Given the description of an element on the screen output the (x, y) to click on. 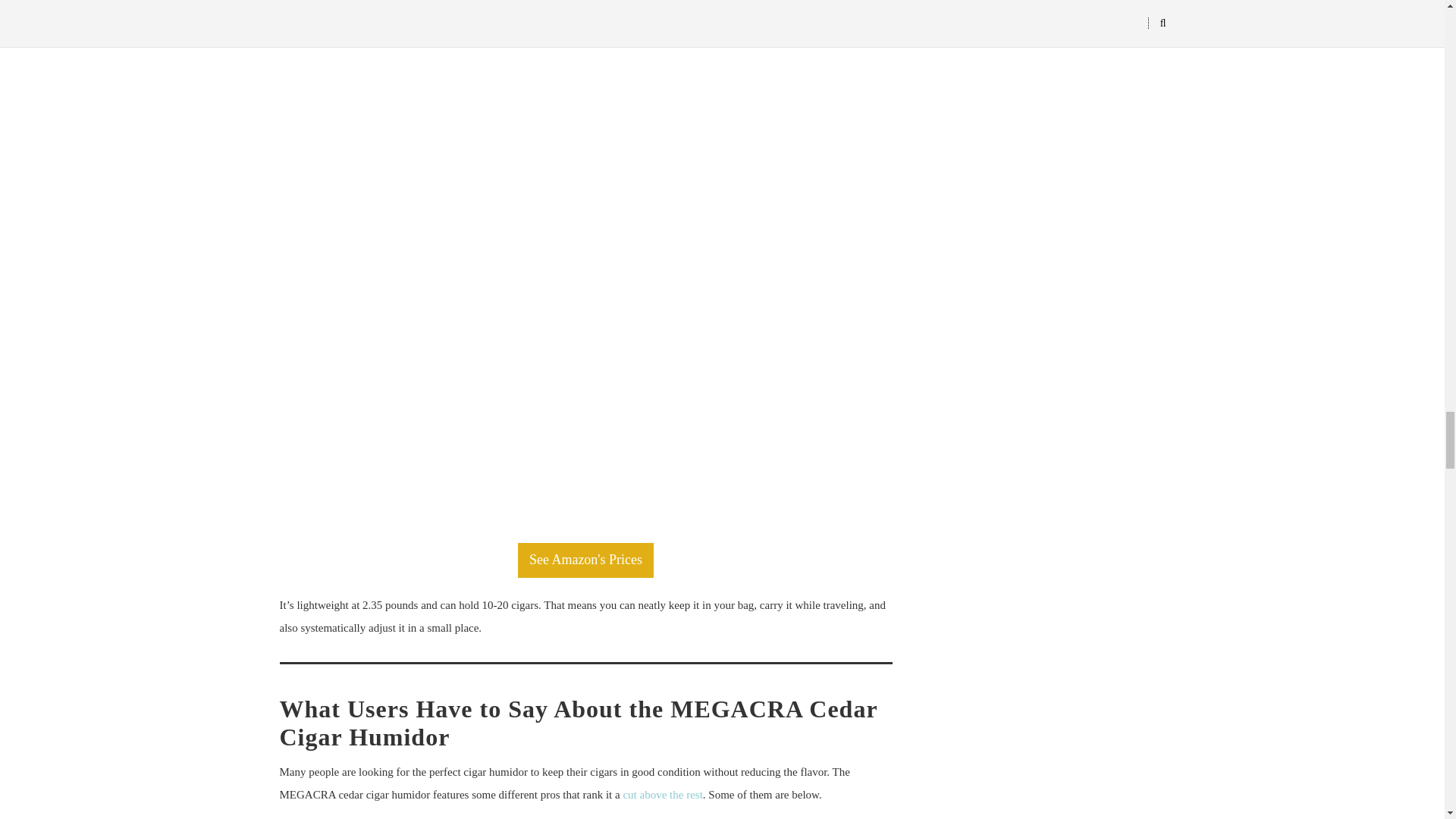
cut above the rest (662, 794)
See Amazon's Prices (585, 560)
